Given the description of an element on the screen output the (x, y) to click on. 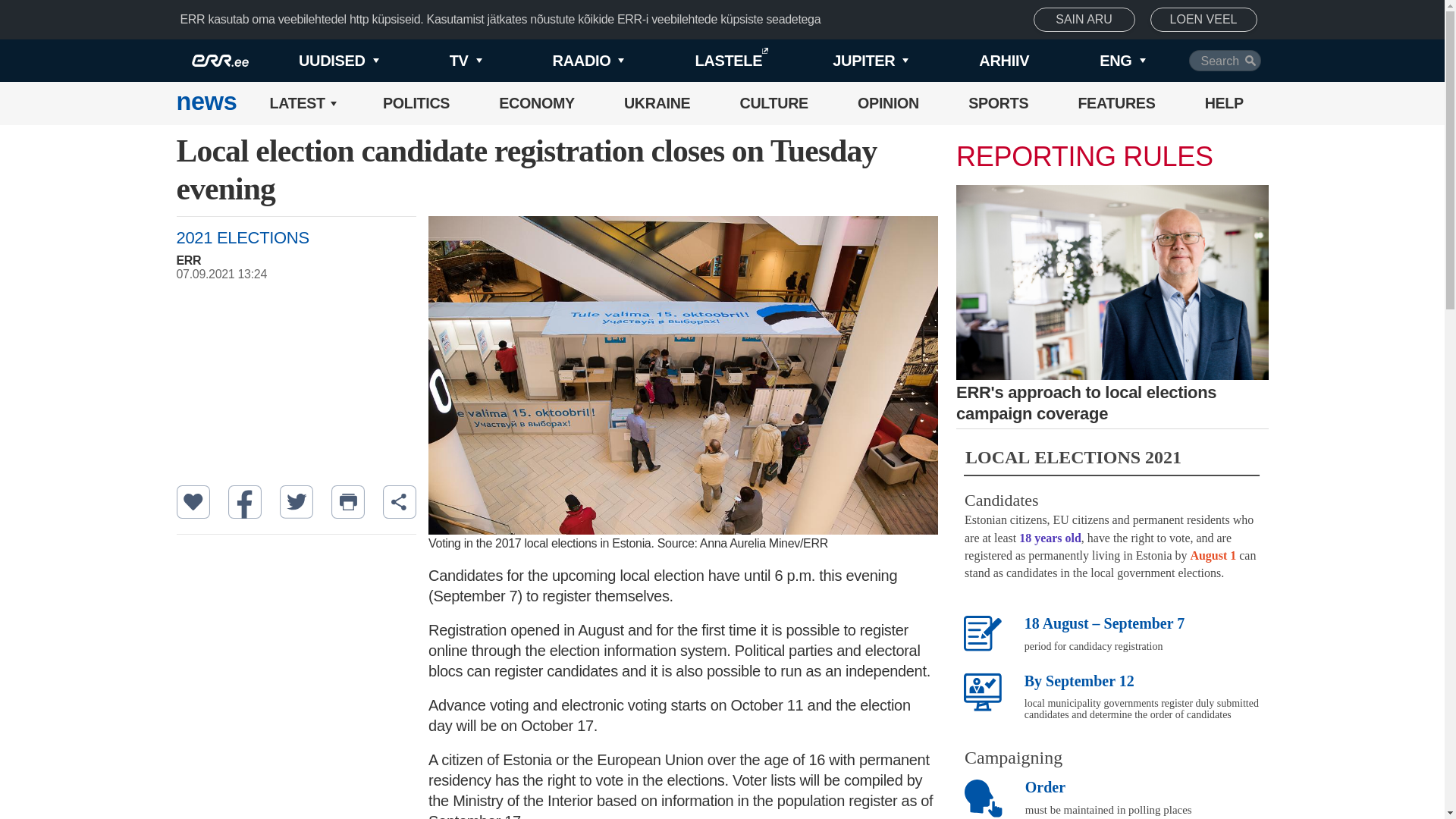
Avalehele (205, 103)
TV (440, 60)
UUDISED (314, 60)
07.09.2021 13:24 (302, 274)
SAIN ARU (1084, 19)
RAADIO (563, 60)
LOEN VEEL (1203, 19)
